Given the description of an element on the screen output the (x, y) to click on. 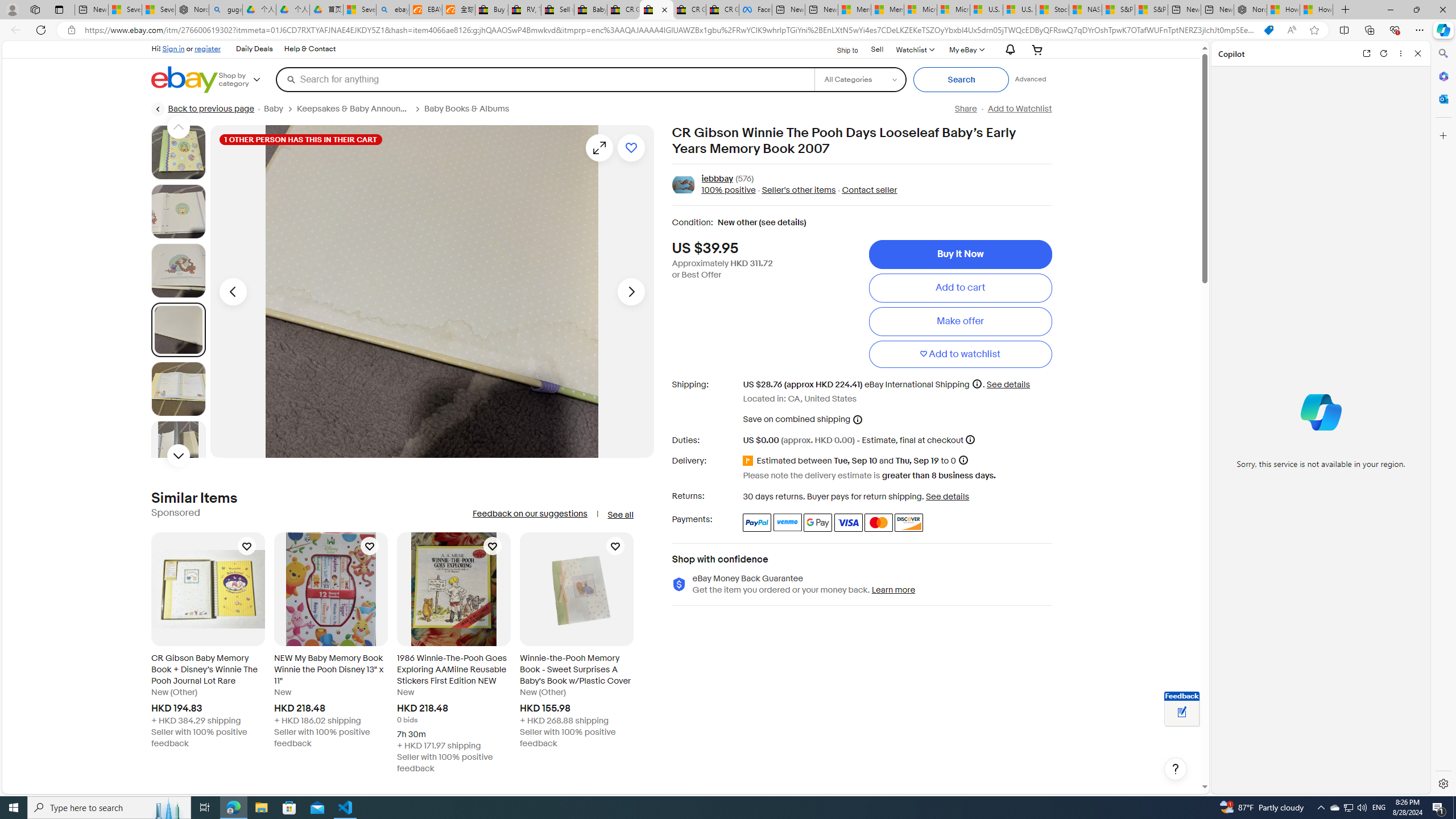
See details - for more information about returns (947, 496)
Customize (1442, 135)
Side bar (1443, 418)
PayPal (756, 521)
Delivery alert flag (749, 460)
Picture 6 of 22 (178, 447)
Baby Books & Albums (470, 108)
